Given the description of an element on the screen output the (x, y) to click on. 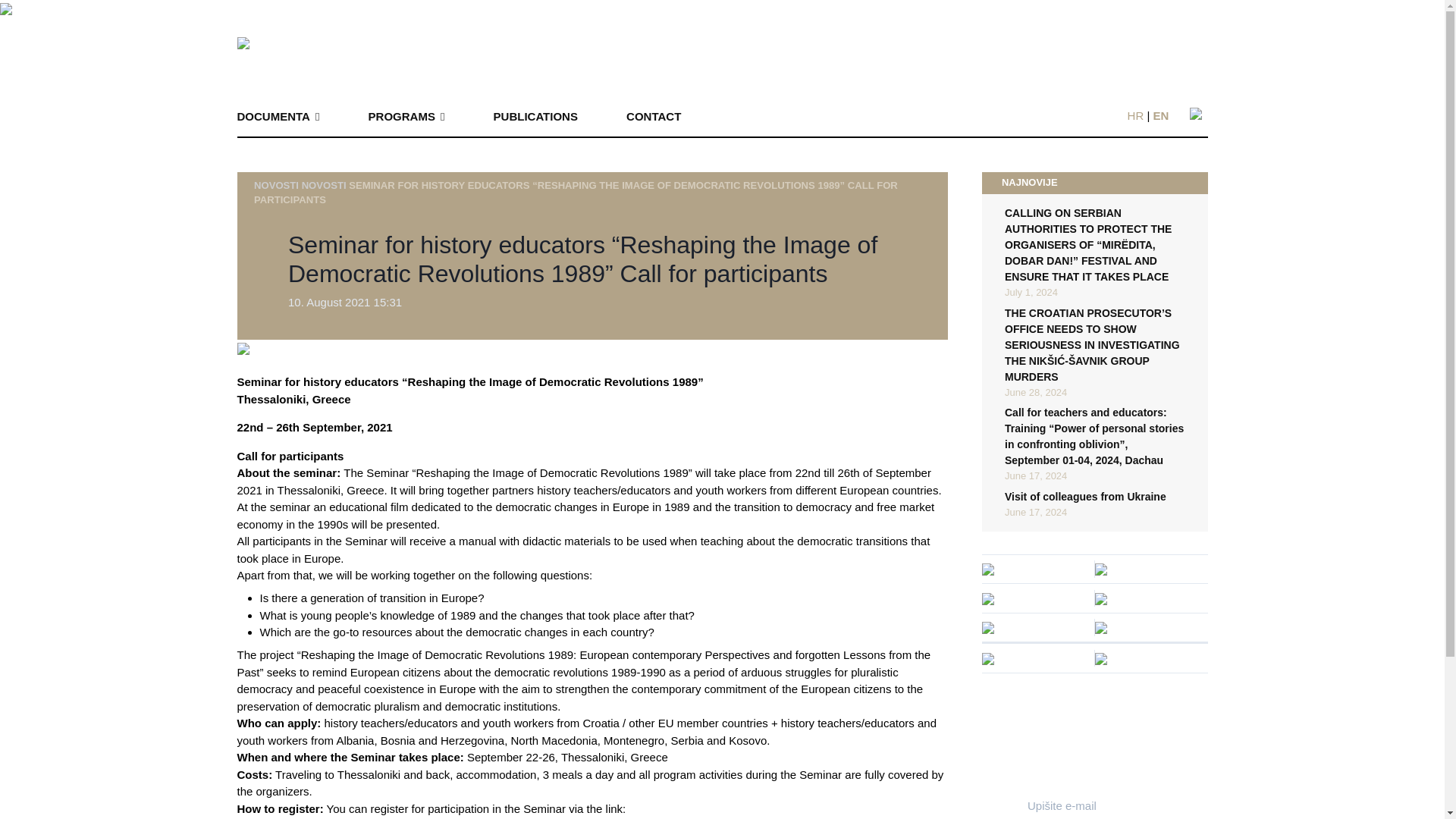
PUBLICATIONS (534, 117)
CONTACT (653, 117)
NOVOSTI (275, 184)
PROGRAMS (406, 117)
EN (1161, 115)
DOCUMENTA (278, 117)
NOVOSTI (323, 184)
HR (1135, 115)
